Given the description of an element on the screen output the (x, y) to click on. 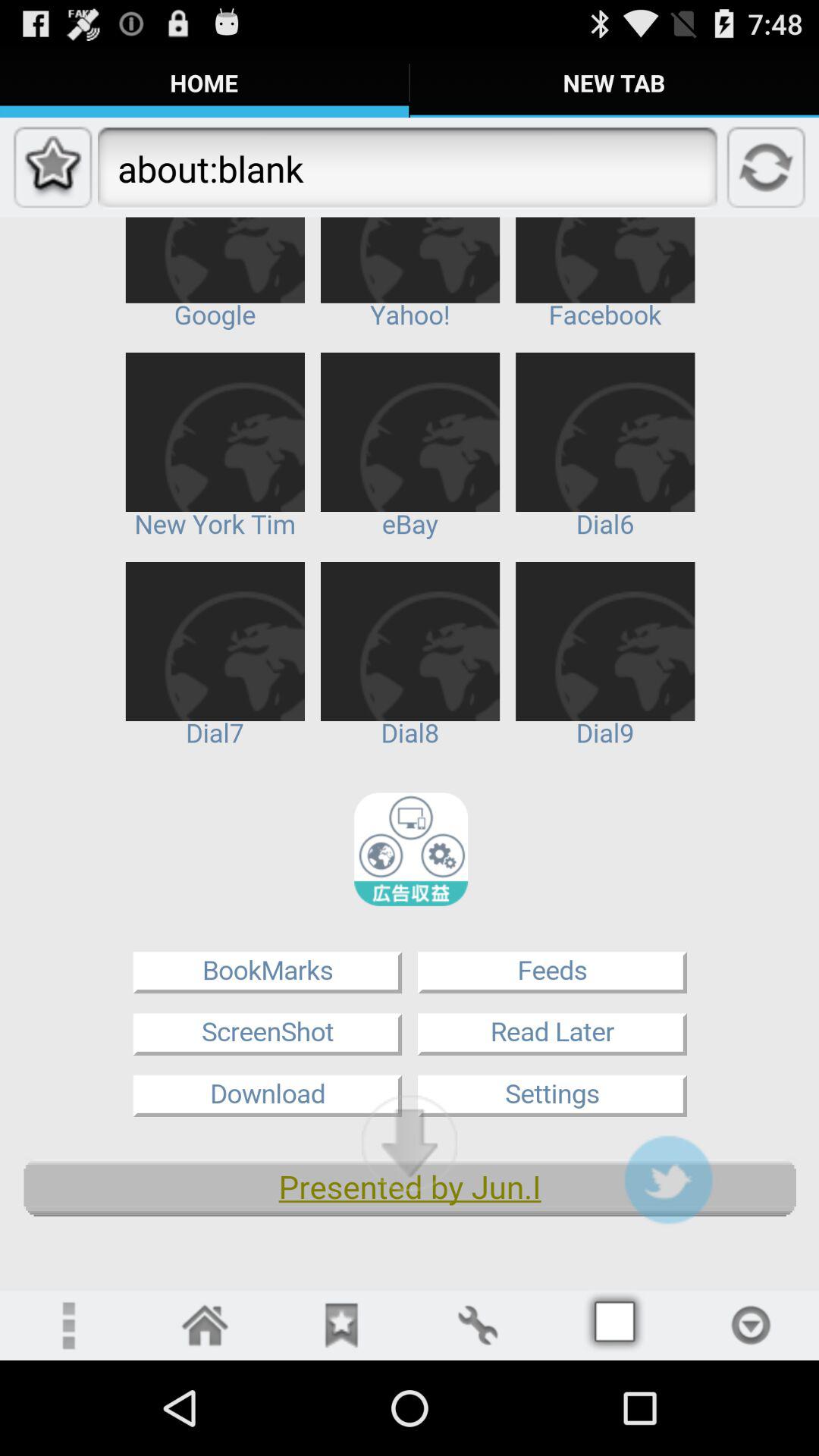
open settings menu (477, 1325)
